Given the description of an element on the screen output the (x, y) to click on. 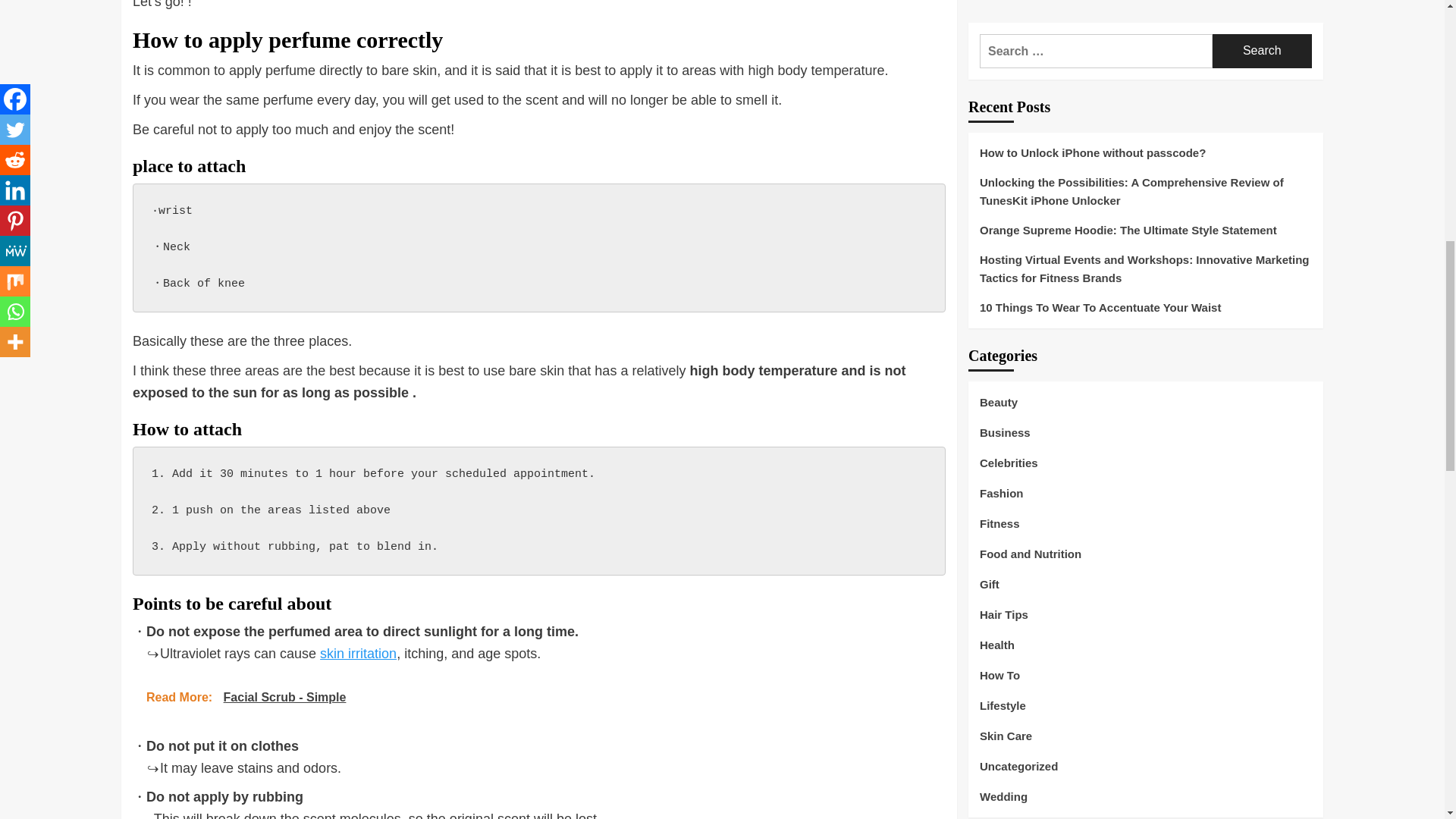
Read More:   Facial Scrub - Simple (538, 696)
skin irritation (358, 653)
